Given the description of an element on the screen output the (x, y) to click on. 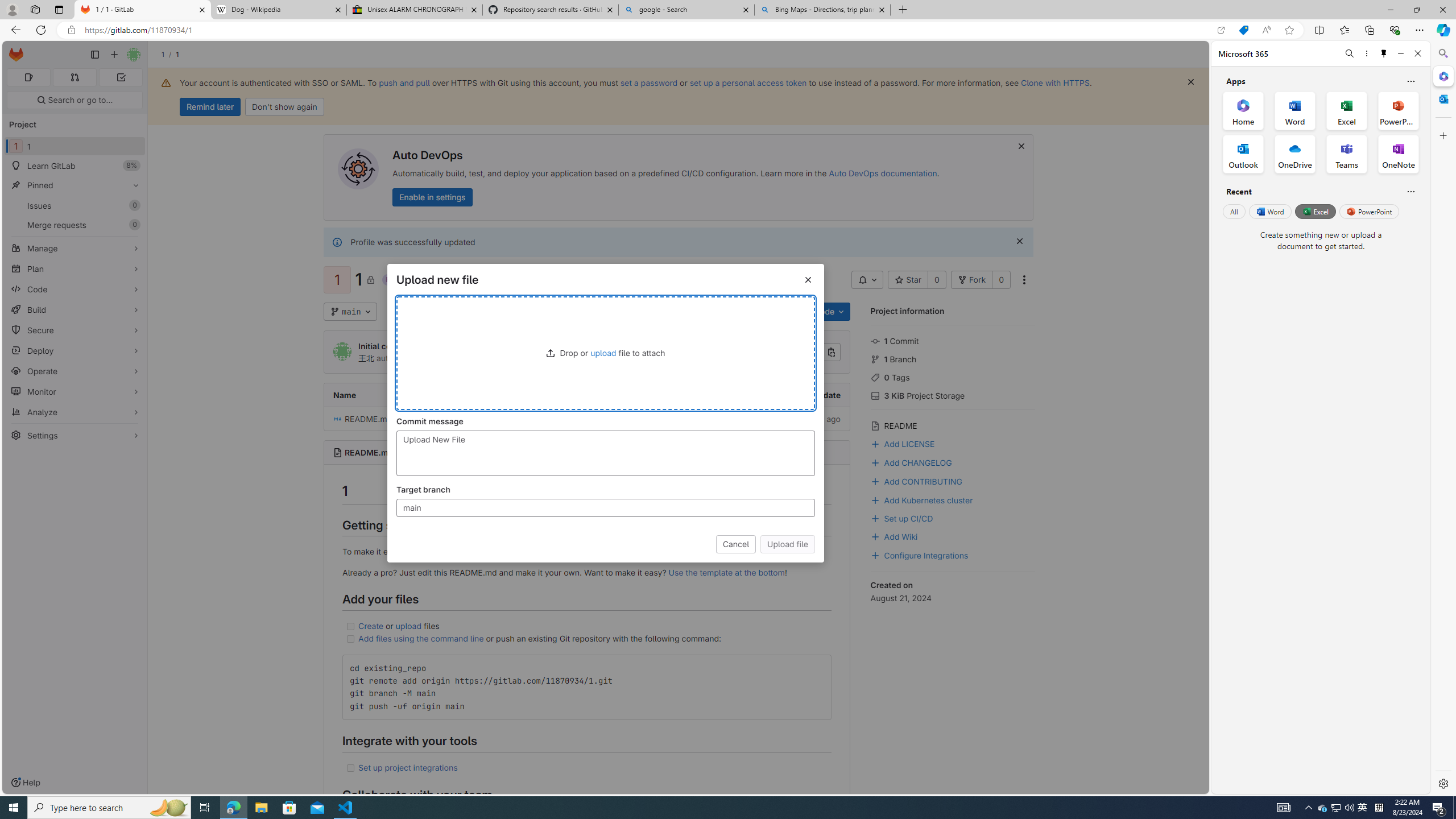
Add CONTRIBUTING (952, 480)
Excel (1315, 210)
Initial commit (586, 418)
Teams Office App (1346, 154)
Set up CI/CD (952, 517)
To-Do list 0 (120, 76)
Add Kubernetes cluster (921, 498)
AutomationID: __BVID__498__BV_toggle_ (867, 280)
Add CHANGELOG (911, 461)
Outlook Office App (1243, 154)
Drop or upload file to attach (605, 352)
Learn GitLab 8% (74, 165)
